Given the description of an element on the screen output the (x, y) to click on. 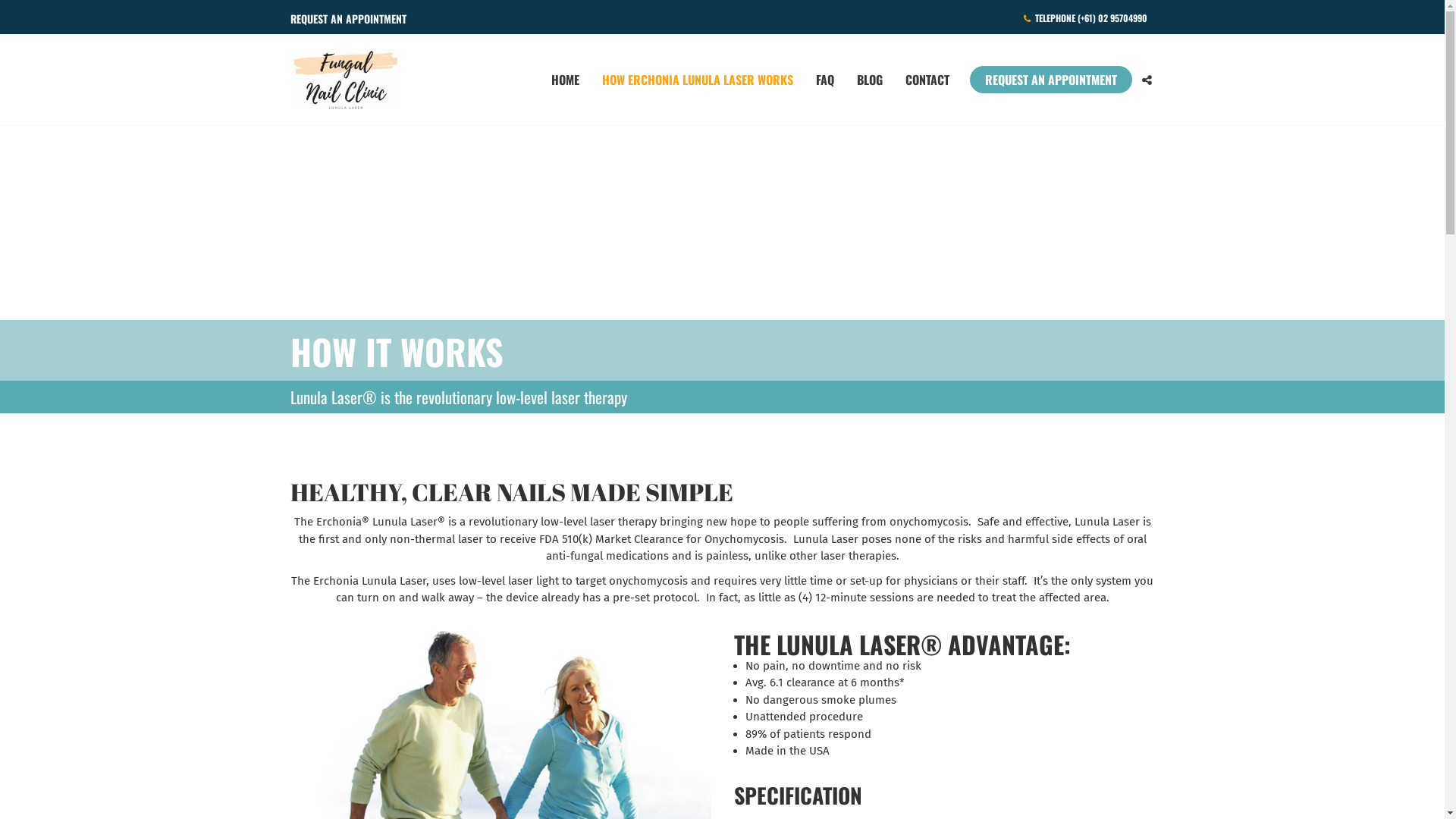
  TELEPHONE (+61) 02 95704990 Element type: text (1085, 18)
FAQ Element type: text (823, 79)
HOME Element type: text (564, 79)
REQUEST AN APPOINTMENT Element type: text (1050, 79)
REQUEST AN APPOINTMENT Element type: text (347, 18)
HOW ERCHONIA LUNULA LASER WORKS Element type: text (696, 79)
BLOG Element type: text (868, 79)
CONTACT Element type: text (926, 79)
